Given the description of an element on the screen output the (x, y) to click on. 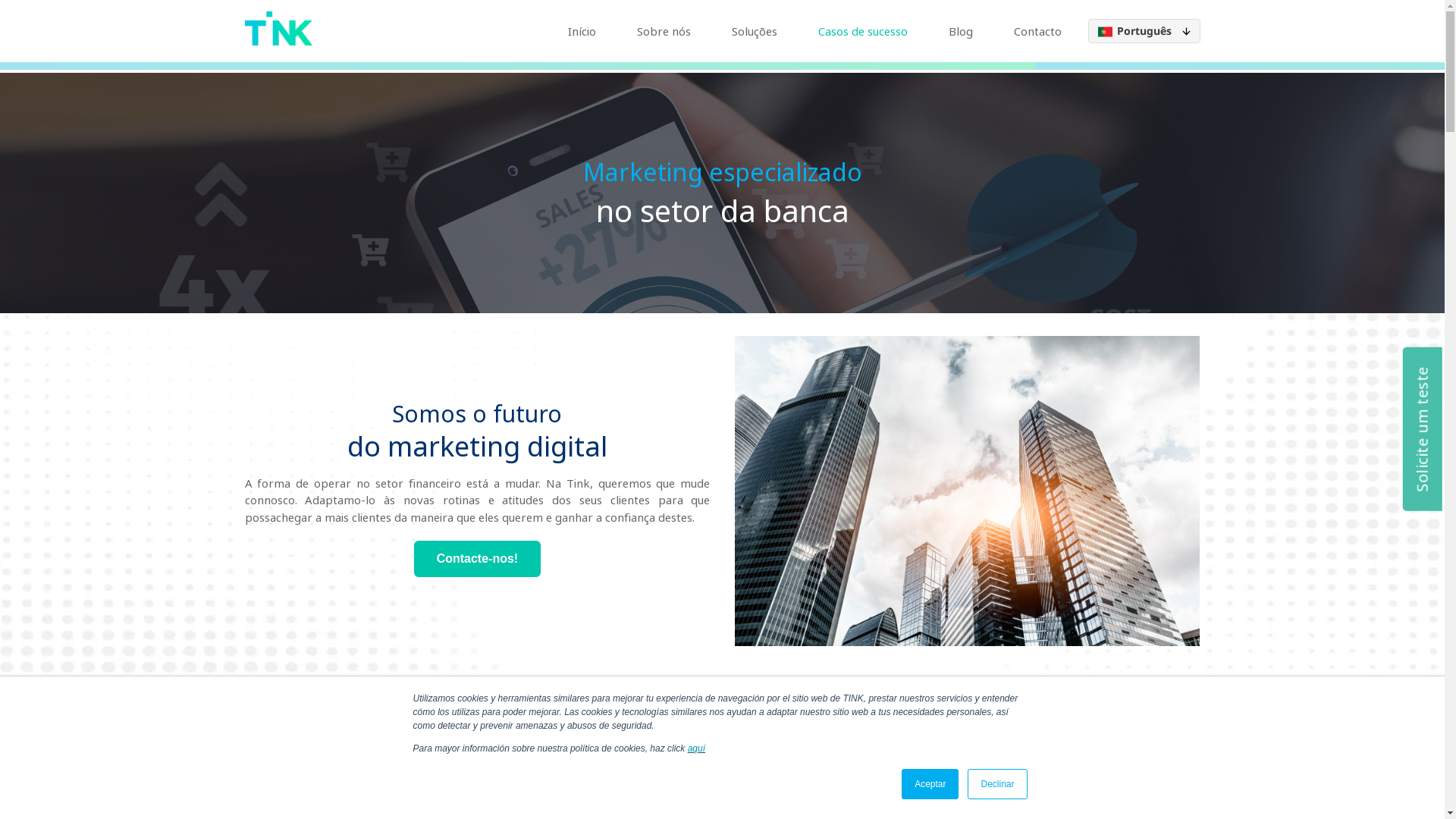
Aceptar Element type: text (929, 783)
Casos de sucesso Element type: text (861, 30)
Blog Element type: text (959, 30)
Contacte-nos! Element type: text (477, 558)
Next Element type: text (1053, 753)
Declinar Element type: text (996, 783)
Contacto Element type: text (1036, 30)
Previous Element type: text (390, 753)
christian-wiediger-RYWEyXopmM4-unsplash Element type: hover (967, 490)
Tink - Referral as a Service Element type: hover (277, 28)
